Given the description of an element on the screen output the (x, y) to click on. 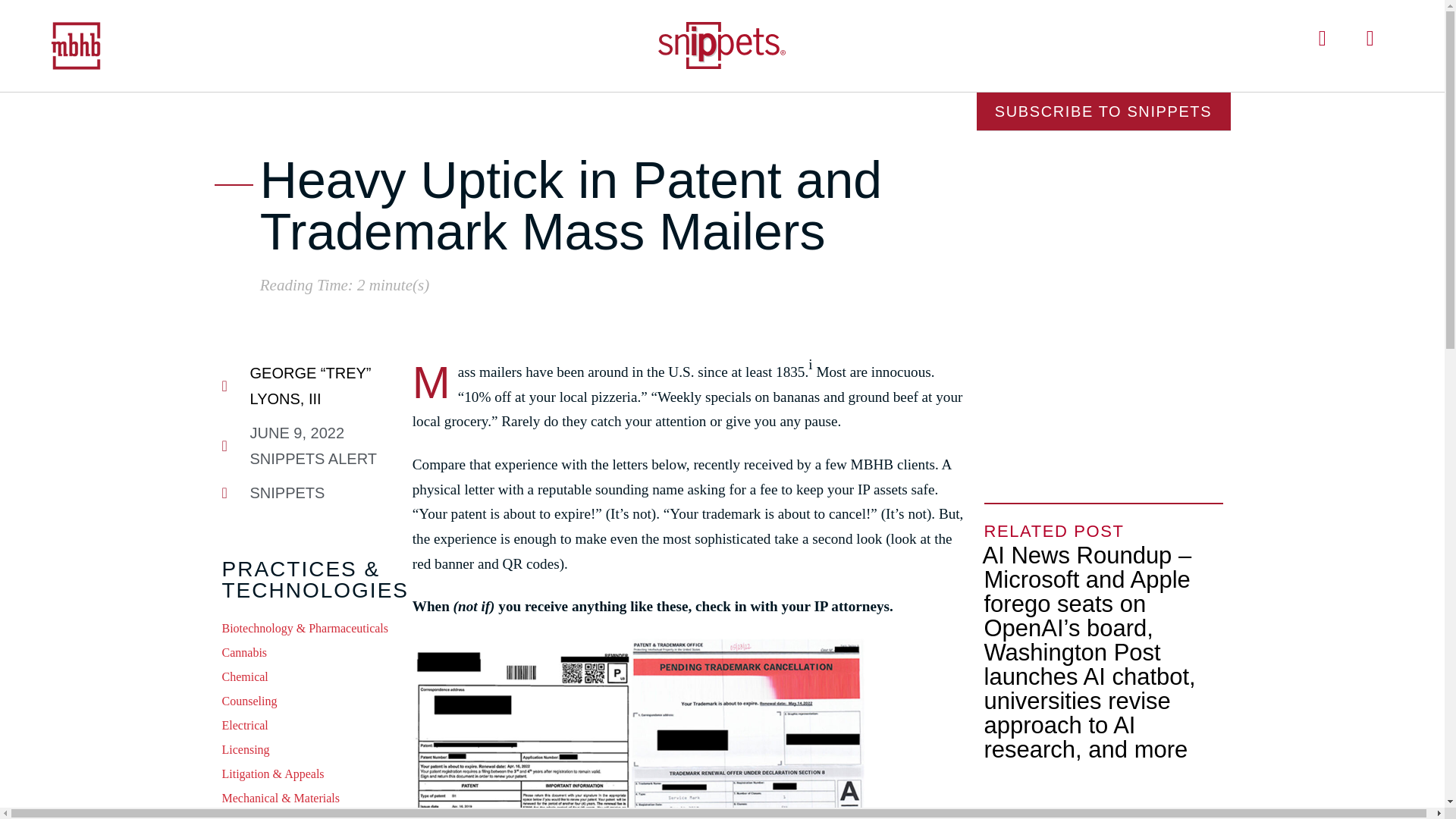
Counseling (308, 704)
Cannabis (308, 655)
Licensing (308, 752)
Electrical (308, 728)
SUBSCRIBE TO SNIPPETS (1102, 111)
Chemical (308, 680)
